Given the description of an element on the screen output the (x, y) to click on. 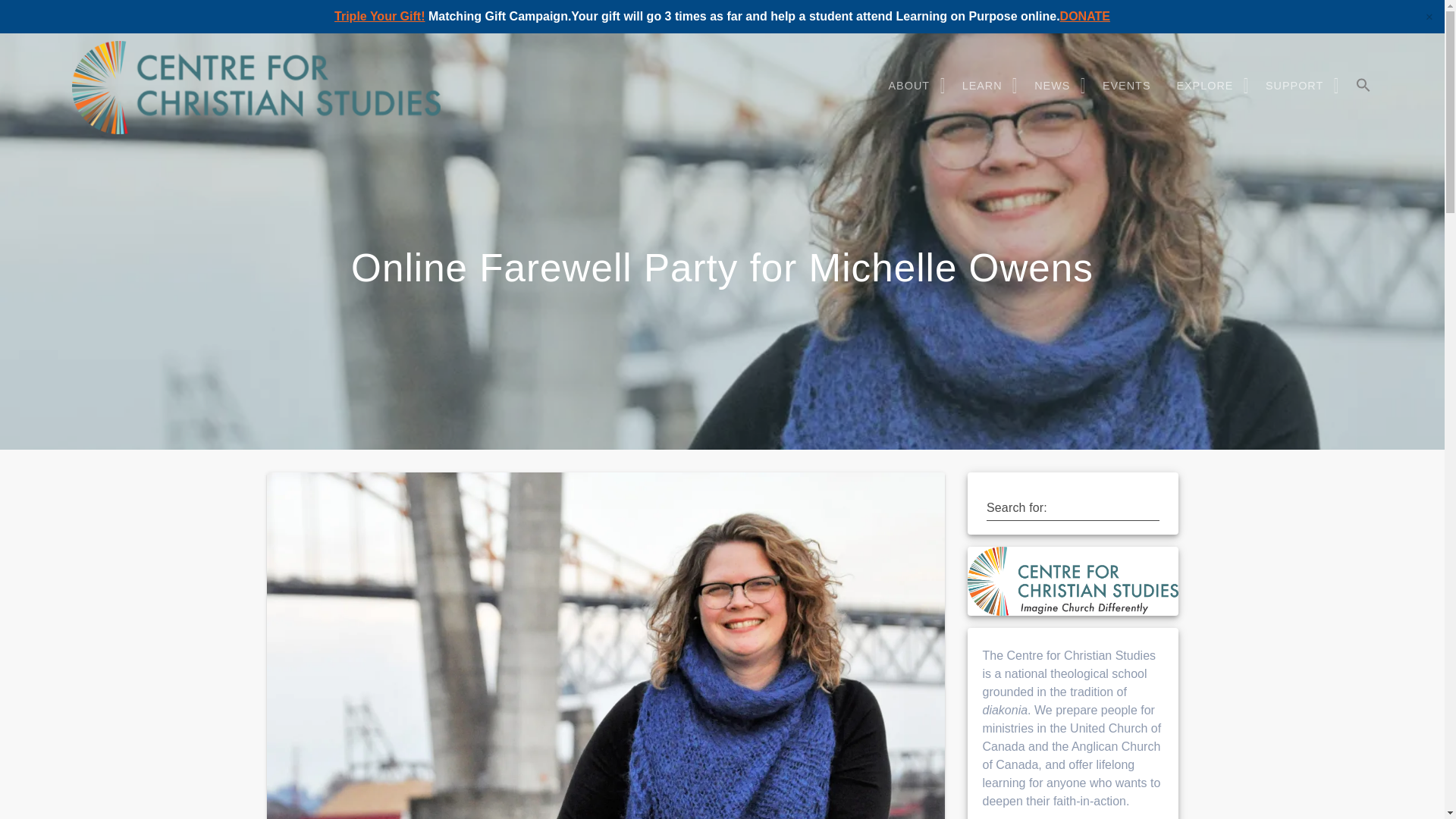
Triple Your Gift! (379, 15)
EVENTS (1126, 85)
NEWS (1055, 85)
DONATE (1084, 15)
EXPLORE (1207, 85)
LEARN (985, 85)
ABOUT (912, 85)
